Given the description of an element on the screen output the (x, y) to click on. 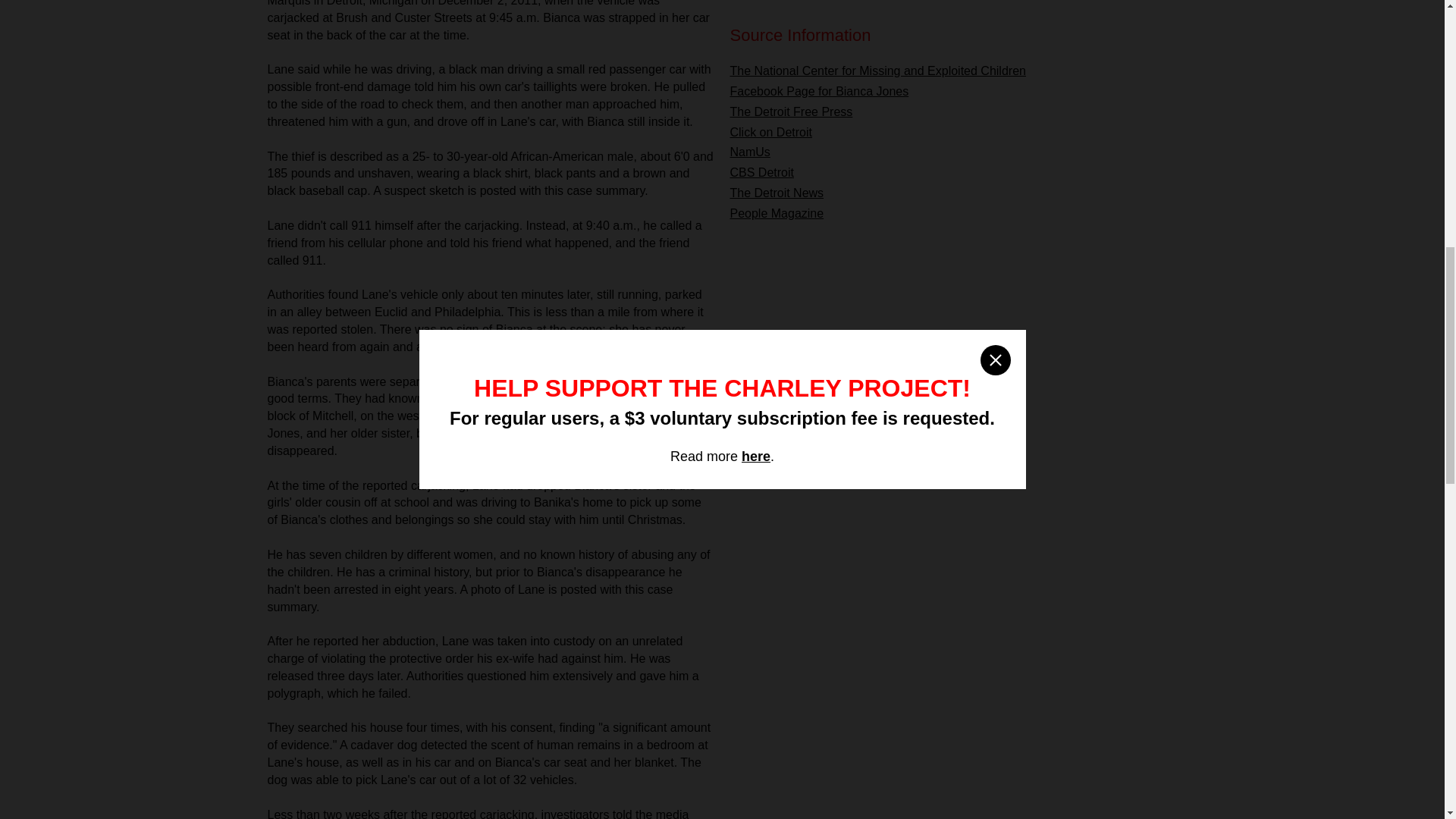
The Detroit News (776, 192)
Facebook Page for Bianca Jones (818, 91)
The Detroit Free Press (790, 111)
CBS Detroit (761, 172)
Click on Detroit (769, 132)
People Magazine (776, 213)
NamUs (749, 151)
The National Center for Missing and Exploited Children (877, 70)
